Given the description of an element on the screen output the (x, y) to click on. 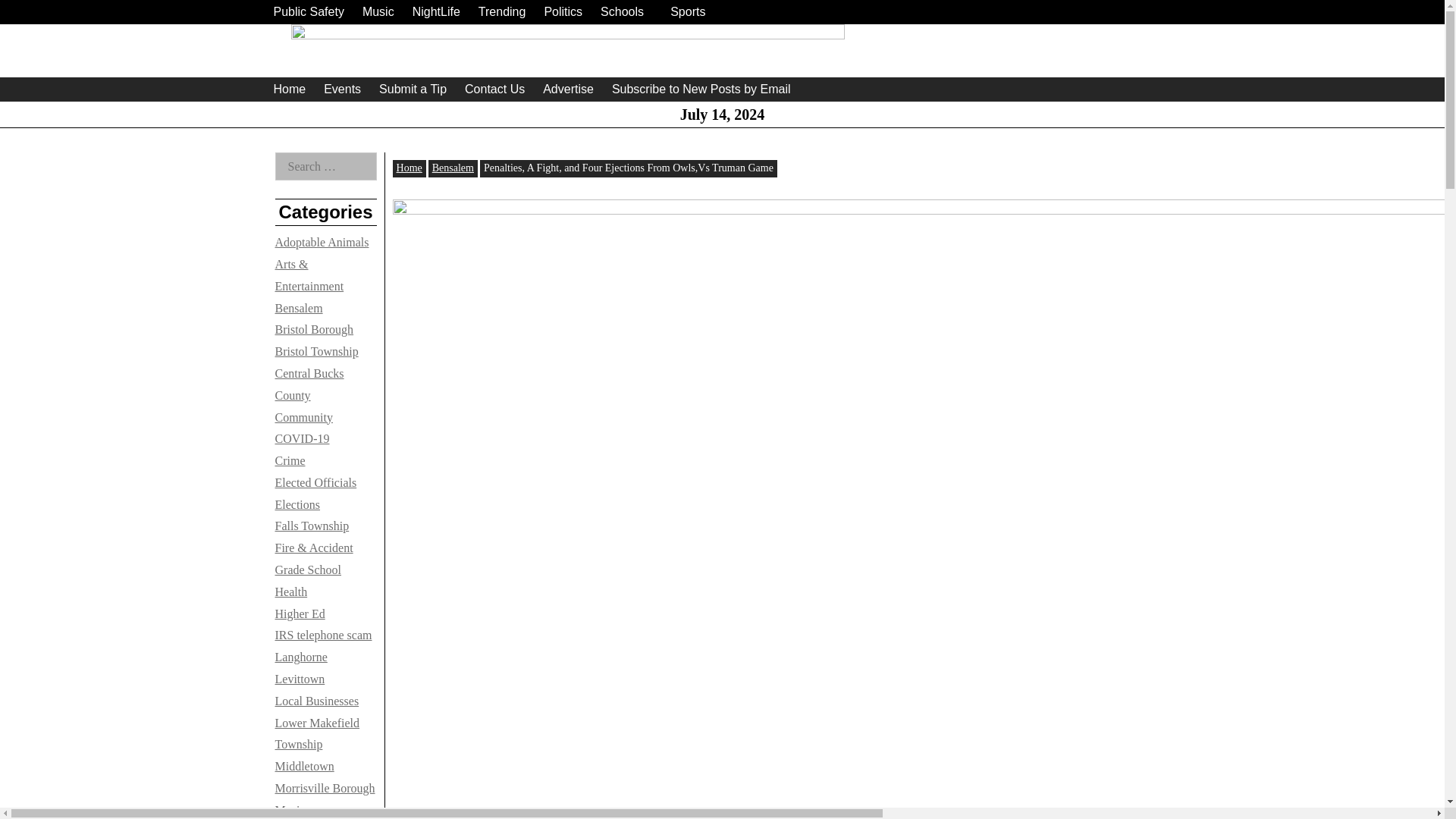
Advertise (568, 88)
Home (409, 167)
Sports (687, 12)
Search (29, 13)
Home (288, 88)
Schools (621, 12)
Submit a Tip (412, 88)
Politics (562, 12)
Public Safety (307, 12)
Contact Us (494, 88)
